Given the description of an element on the screen output the (x, y) to click on. 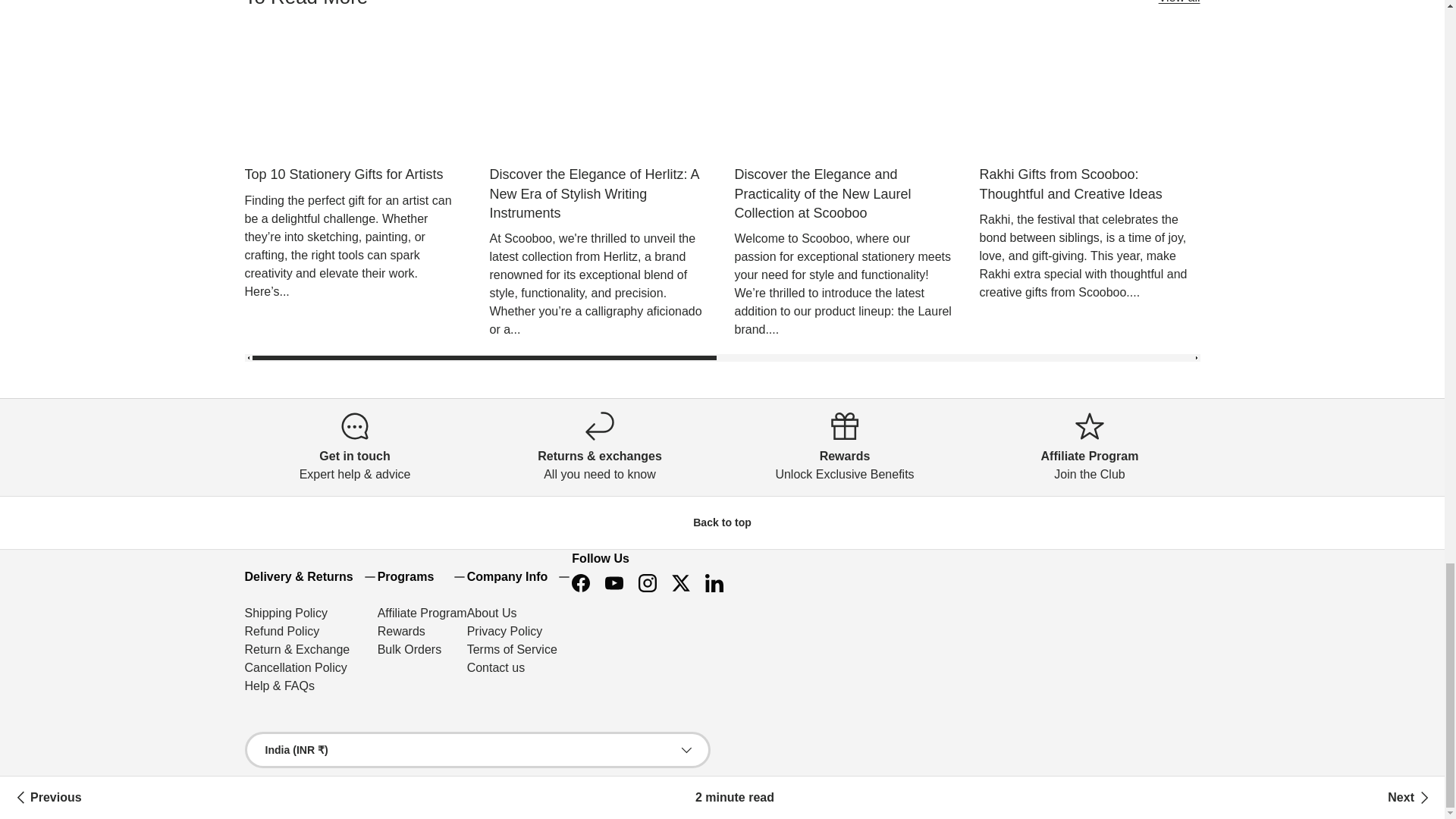
SCOOBOO  on Instagram (646, 582)
SCOOBOO  on Facebook (580, 582)
SCOOBOO  on Twitter (680, 582)
SCOOBOO  on LinkedIn (713, 582)
SCOOBOO  on YouTube (613, 582)
